Given the description of an element on the screen output the (x, y) to click on. 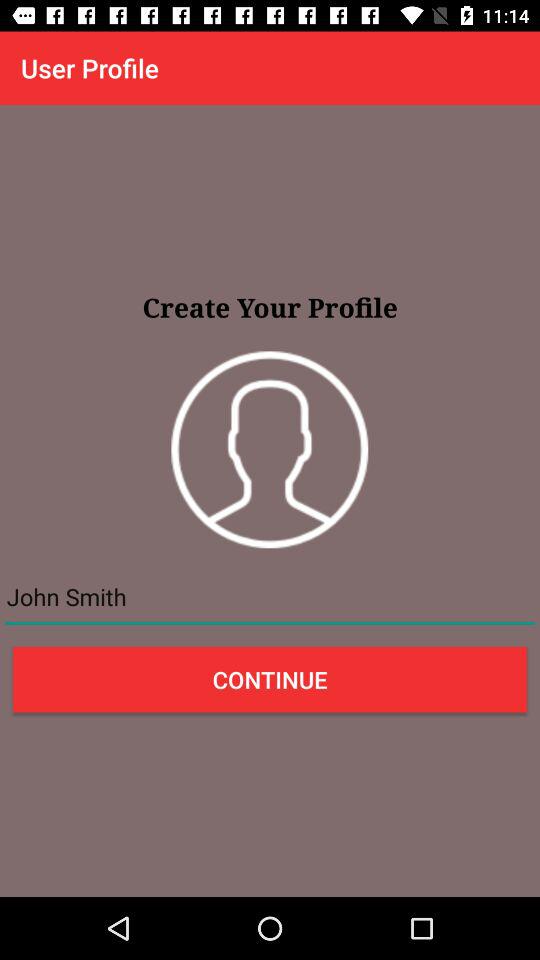
profile (269, 449)
